Given the description of an element on the screen output the (x, y) to click on. 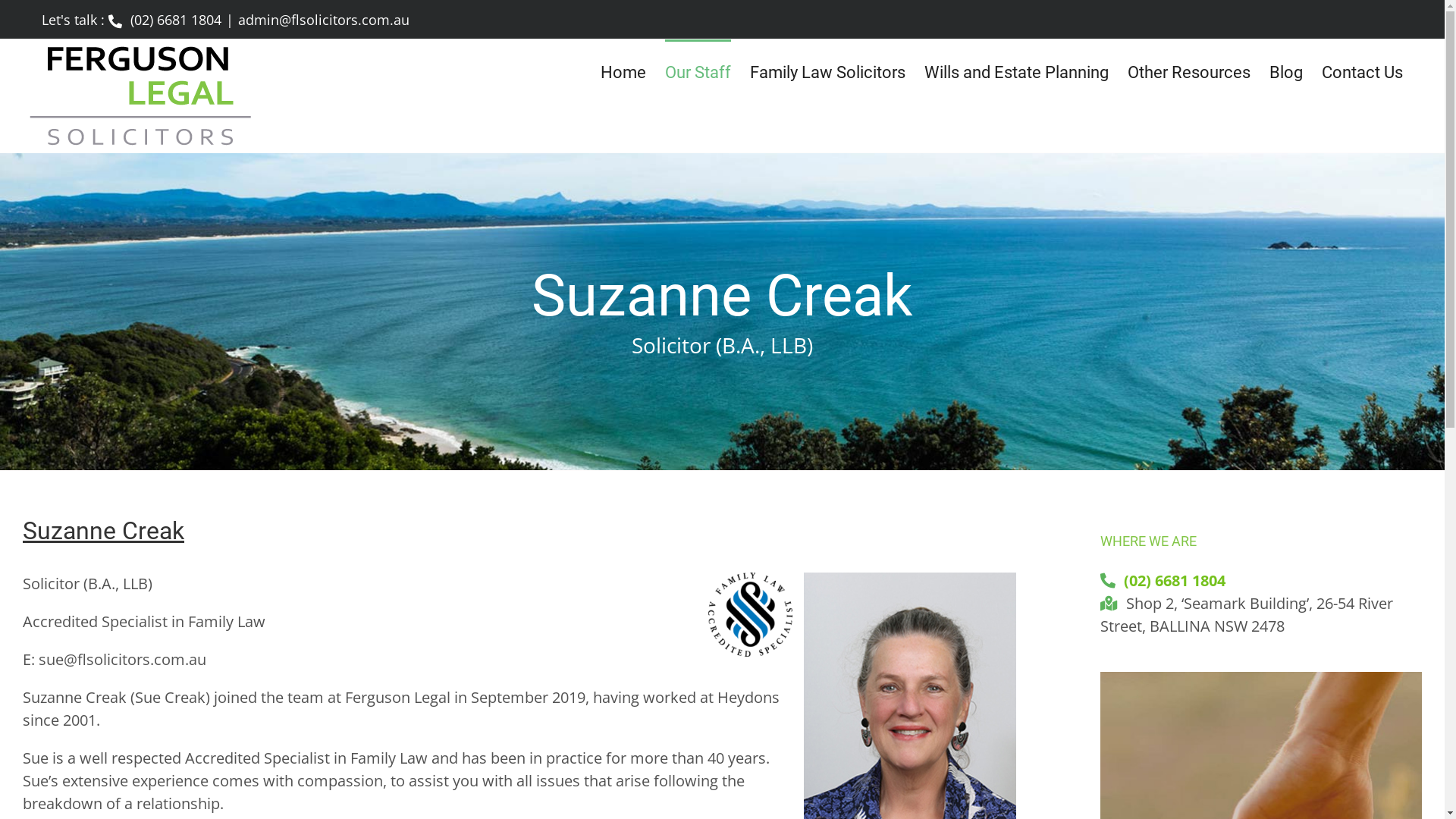
Family Law Solicitors Element type: text (827, 71)
Our Staff Element type: text (698, 71)
(02) 6681 1804 Element type: text (164, 19)
Contact Us Element type: text (1361, 71)
(02) 6681 1804 Element type: text (1174, 580)
Wills and Estate Planning Element type: text (1016, 71)
Home Element type: text (623, 71)
admin@flsolicitors.com.au Element type: text (323, 19)
Blog Element type: text (1285, 71)
Other Resources Element type: text (1188, 71)
